Given the description of an element on the screen output the (x, y) to click on. 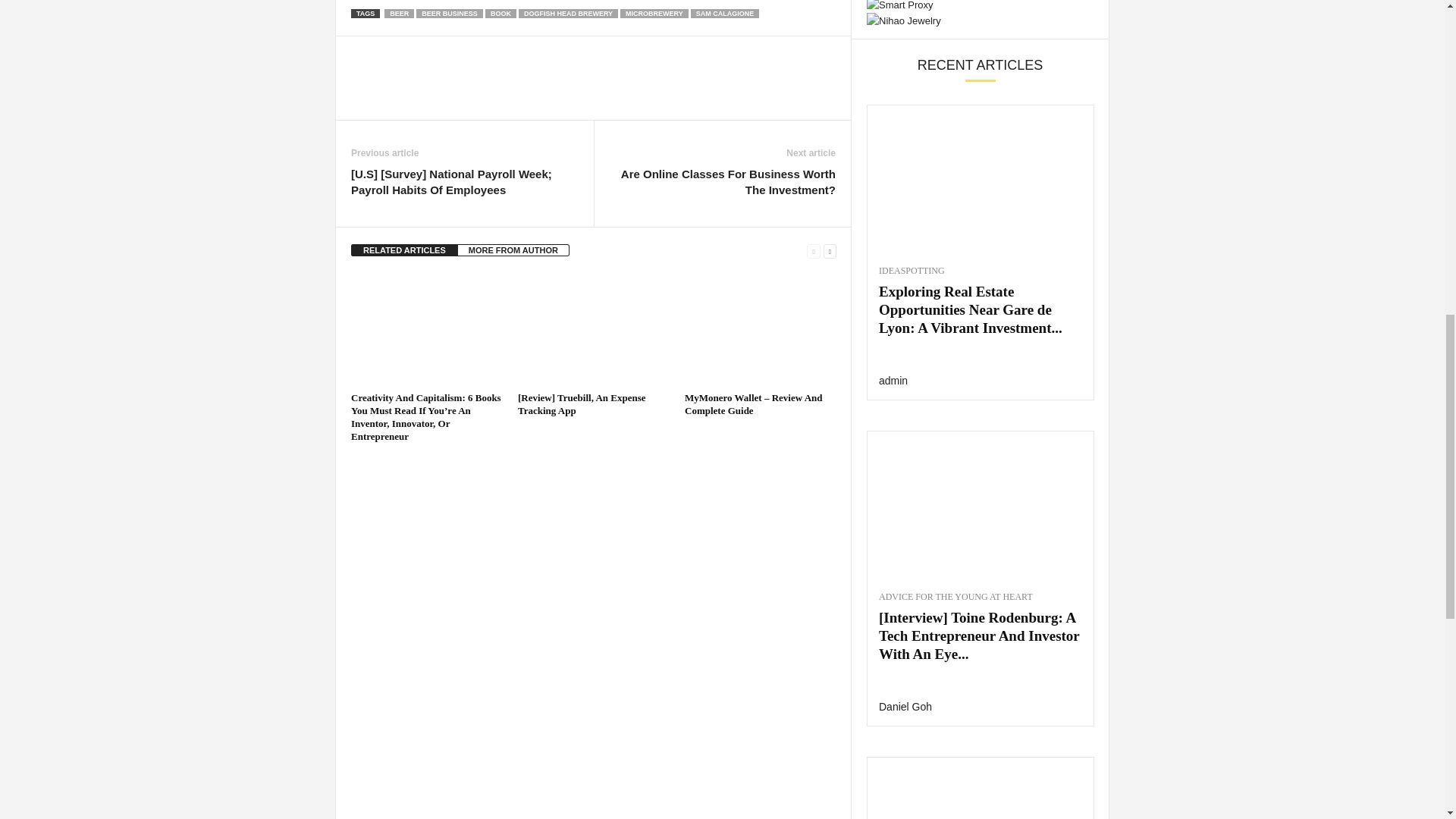
BEER (398, 13)
BOOK (500, 13)
bottomFacebookLike (390, 51)
BEER BUSINESS (449, 13)
